Given the description of an element on the screen output the (x, y) to click on. 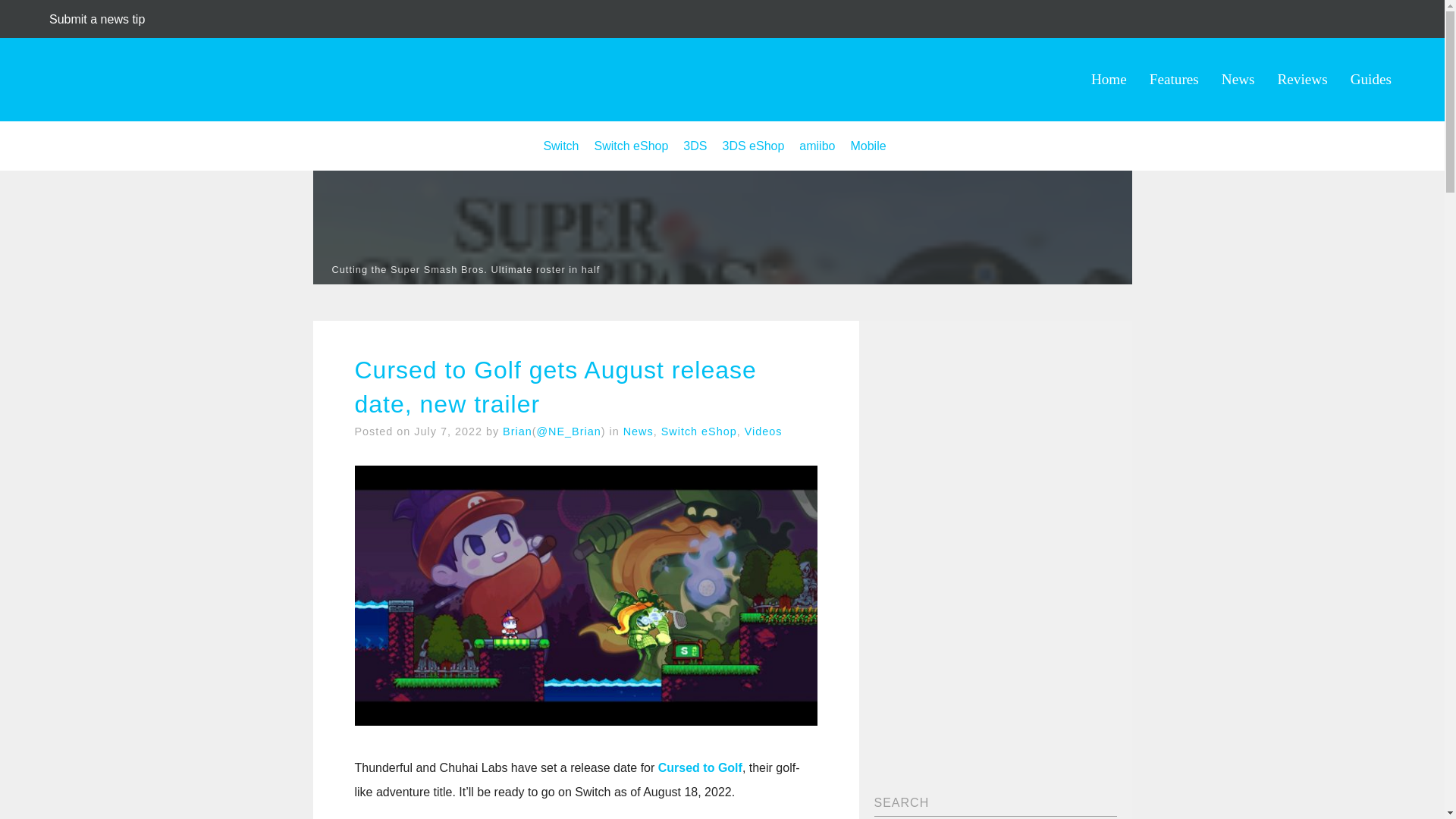
Submit a news tip (97, 19)
Cursed to Golf (700, 767)
Guides (1371, 78)
News (1238, 78)
Mobile (867, 145)
Switch (560, 145)
Videos (763, 431)
Switch eShop (631, 145)
Reviews (1302, 78)
3DS eShop (753, 145)
amiibo (816, 145)
Brian (517, 431)
3DS (694, 145)
Features (1174, 78)
Switch eShop (698, 431)
